Given the description of an element on the screen output the (x, y) to click on. 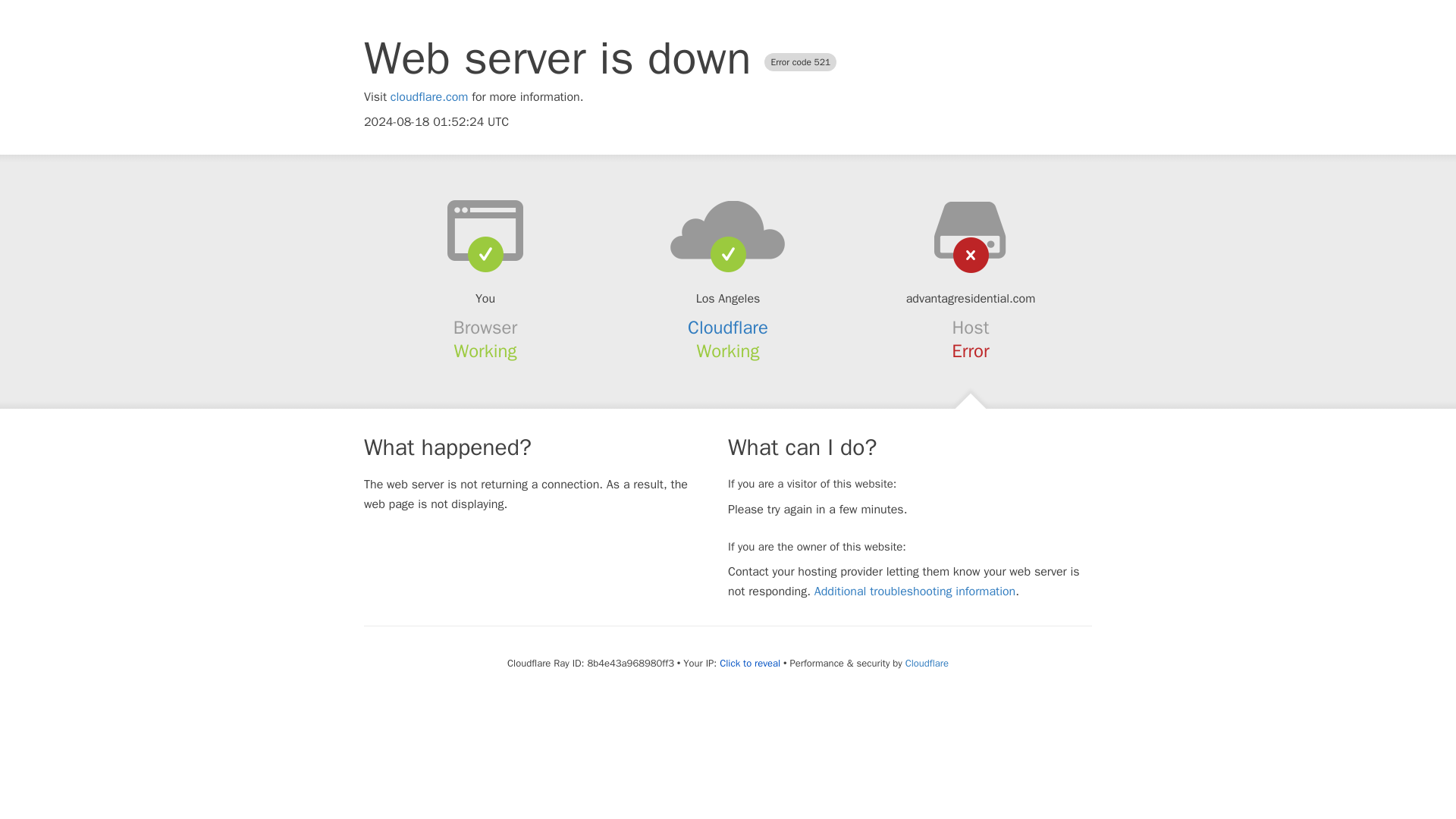
Click to reveal (749, 663)
Cloudflare (927, 662)
Additional troubleshooting information (913, 590)
cloudflare.com (429, 96)
Cloudflare (727, 327)
